Given the description of an element on the screen output the (x, y) to click on. 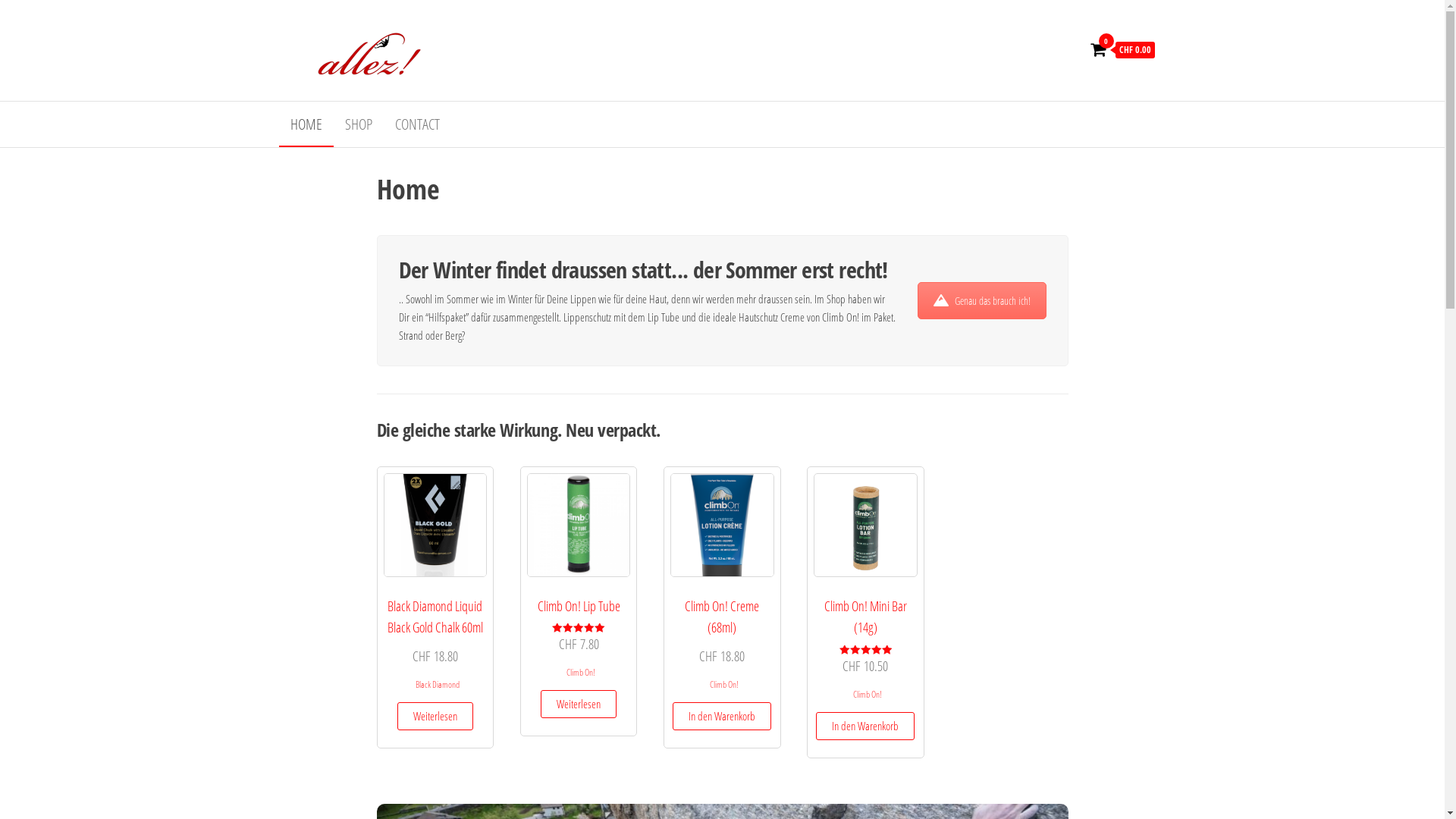
In den Warenkorb Element type: text (721, 716)
Genau das brauch ich! Element type: text (981, 300)
Weiterlesen Element type: text (578, 704)
HOME Element type: text (306, 124)
CONTACT Element type: text (417, 124)
Climb On! Element type: text (580, 671)
allez.ch Element type: text (487, 34)
Climb On! Creme (68ml)
CHF 18.80 Element type: text (722, 570)
Climb On! Mini Bar (14g)
Bewertet mit
von 5
CHF 10.50 Element type: text (865, 575)
Black Diamond Liquid Black Gold Chalk 60ml
CHF 18.80 Element type: text (435, 570)
Climb On! Lip Tube
Bewertet mit
von 5
CHF 7.80 Element type: text (578, 564)
0
CHF 0.00 Element type: text (1122, 49)
Climb On! Element type: text (723, 683)
SHOP Element type: text (358, 124)
Weiterlesen Element type: text (435, 716)
Climb On! Element type: text (867, 693)
Black Diamond Element type: text (437, 683)
In den Warenkorb Element type: text (864, 726)
